Given the description of an element on the screen output the (x, y) to click on. 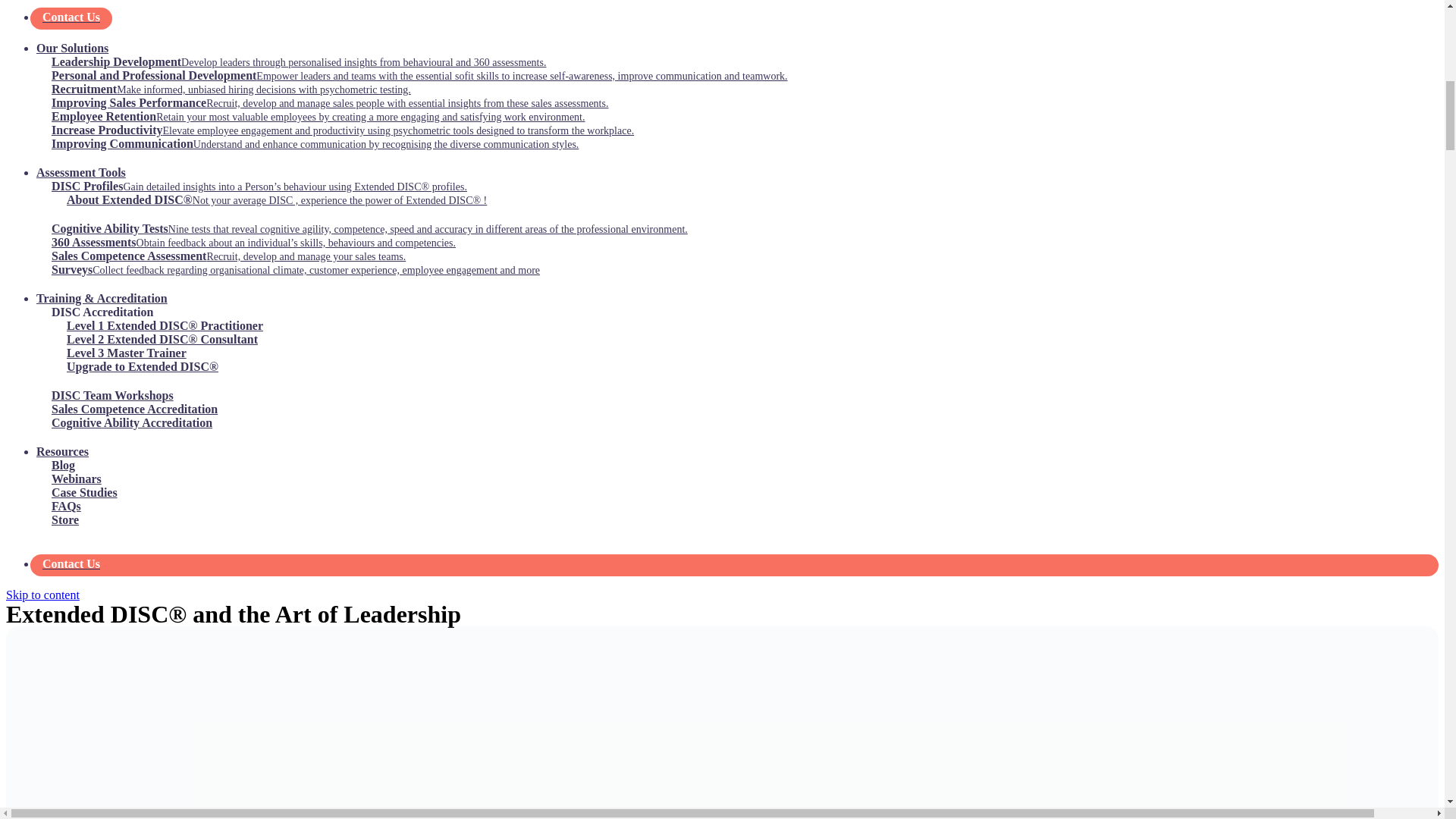
Our Solutions (71, 47)
Contact Us (737, 14)
